Given the description of an element on the screen output the (x, y) to click on. 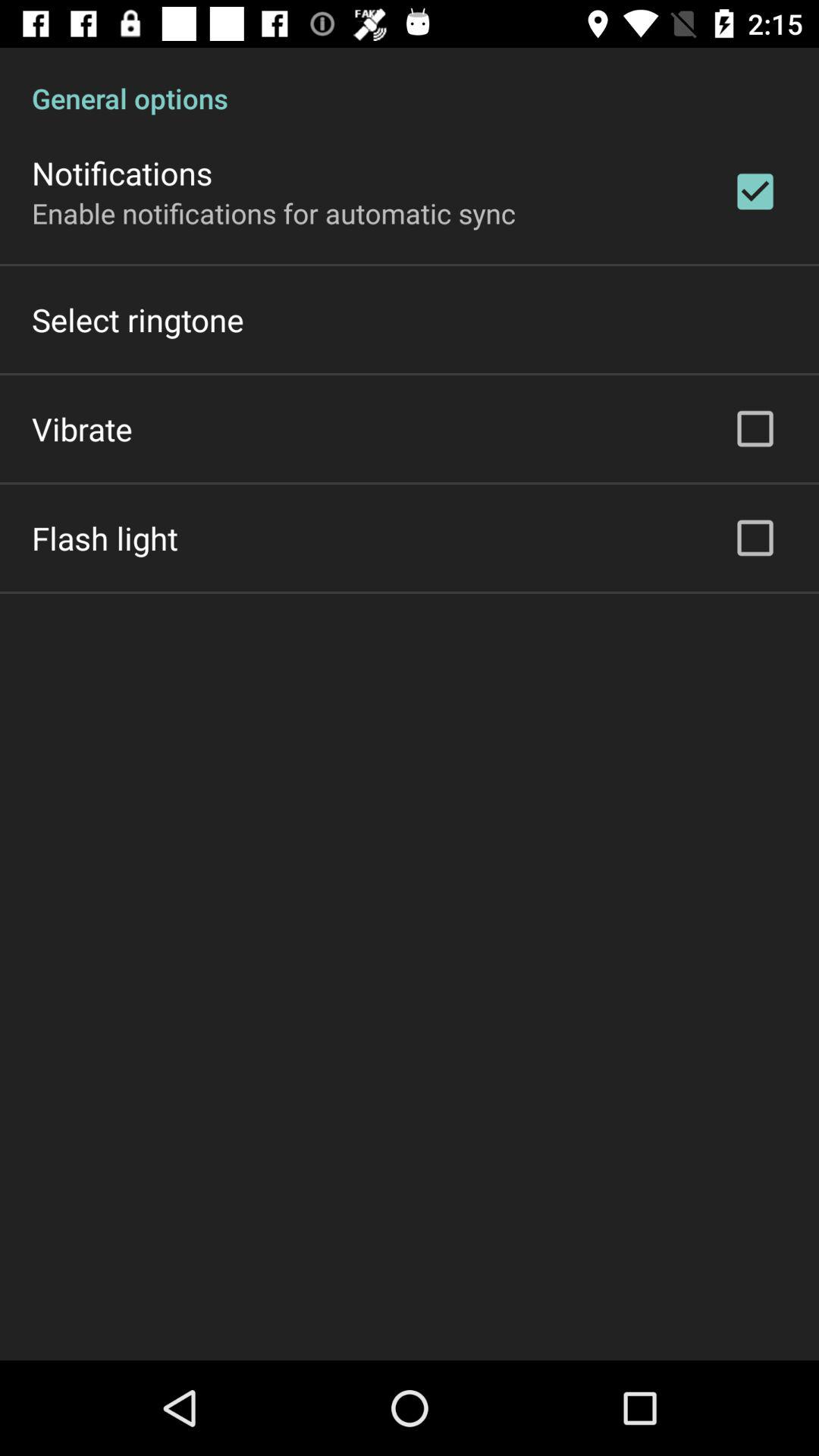
turn off select ringtone (137, 319)
